Given the description of an element on the screen output the (x, y) to click on. 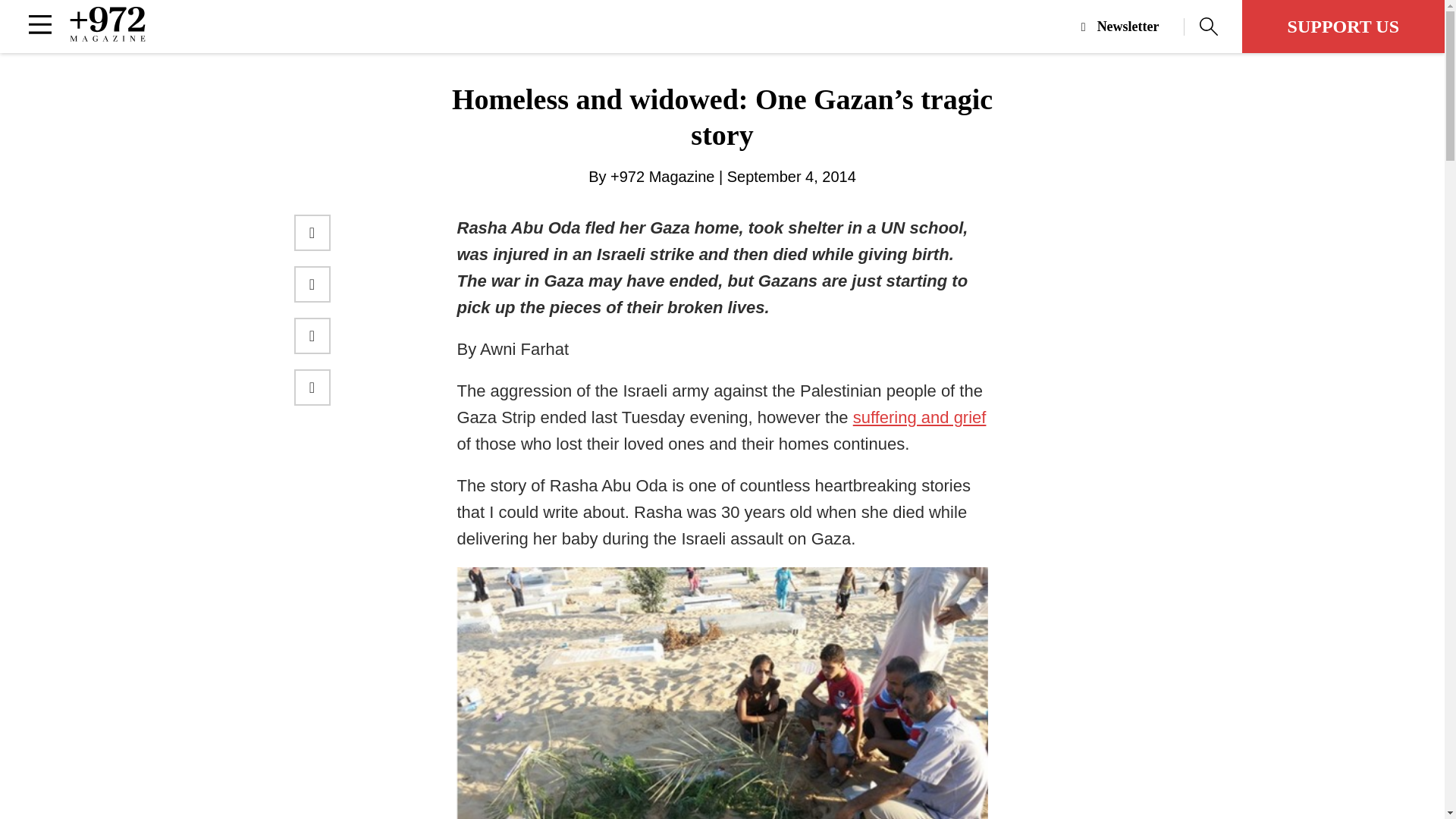
suffering and grief (920, 416)
Newsletter (1133, 27)
